Given the description of an element on the screen output the (x, y) to click on. 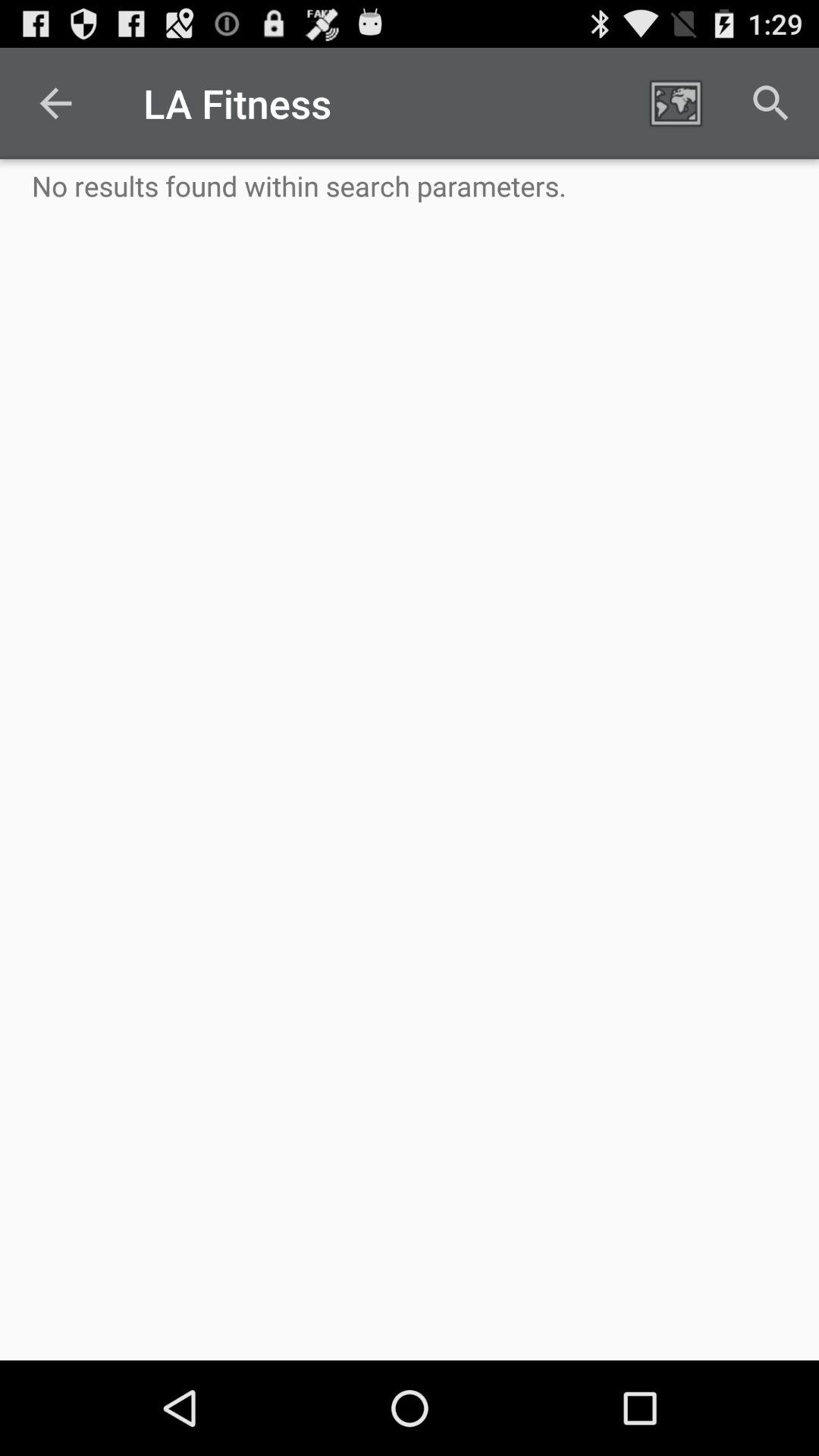
tap the item above no results found icon (675, 103)
